Given the description of an element on the screen output the (x, y) to click on. 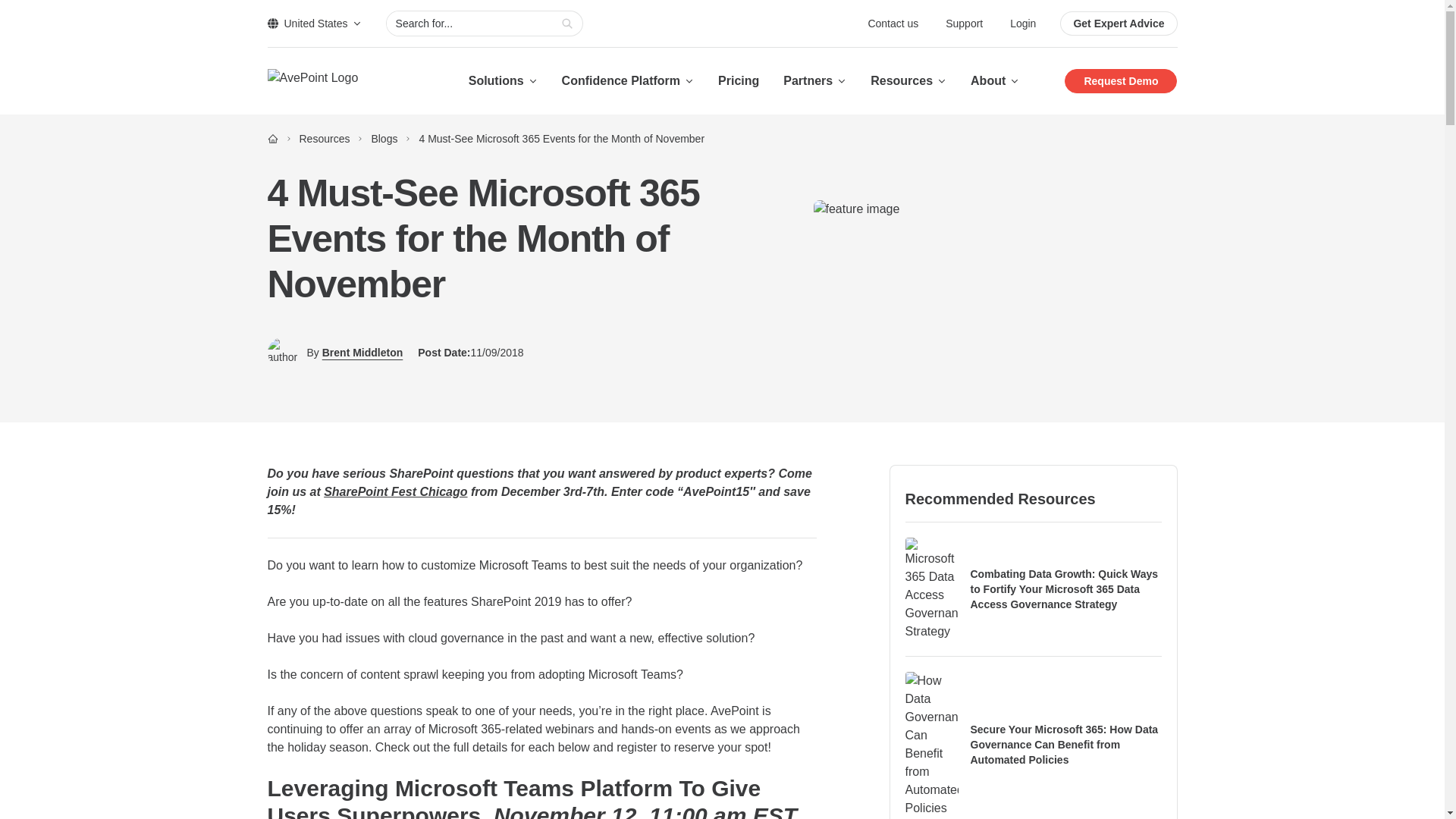
United States (313, 23)
Get Expert Advice (1117, 23)
Confidence Platform (628, 80)
Search (566, 23)
Solutions (502, 80)
Contact us (894, 23)
Support (964, 23)
Login (1022, 23)
